Given the description of an element on the screen output the (x, y) to click on. 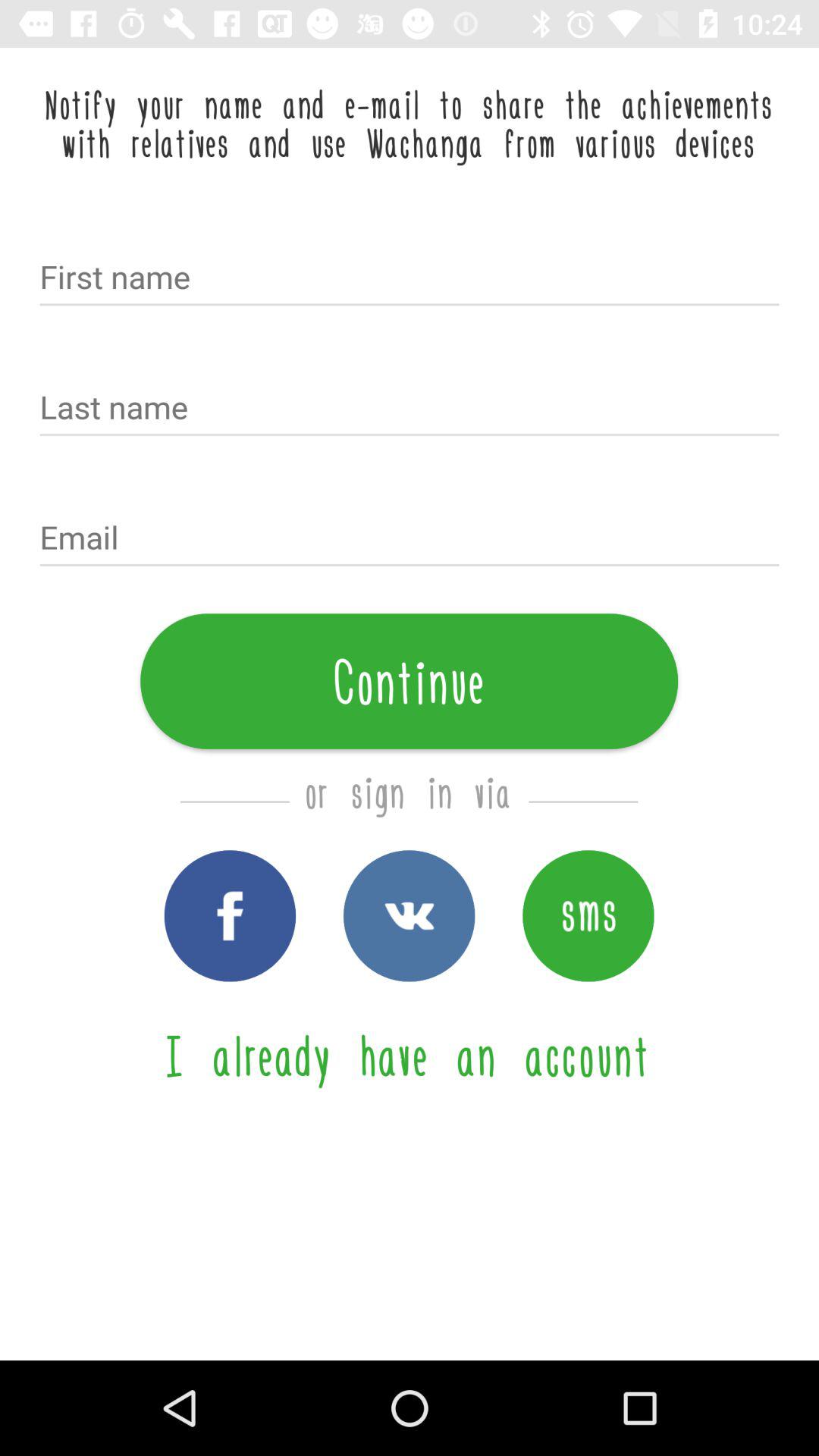
enter your name (409, 278)
